Given the description of an element on the screen output the (x, y) to click on. 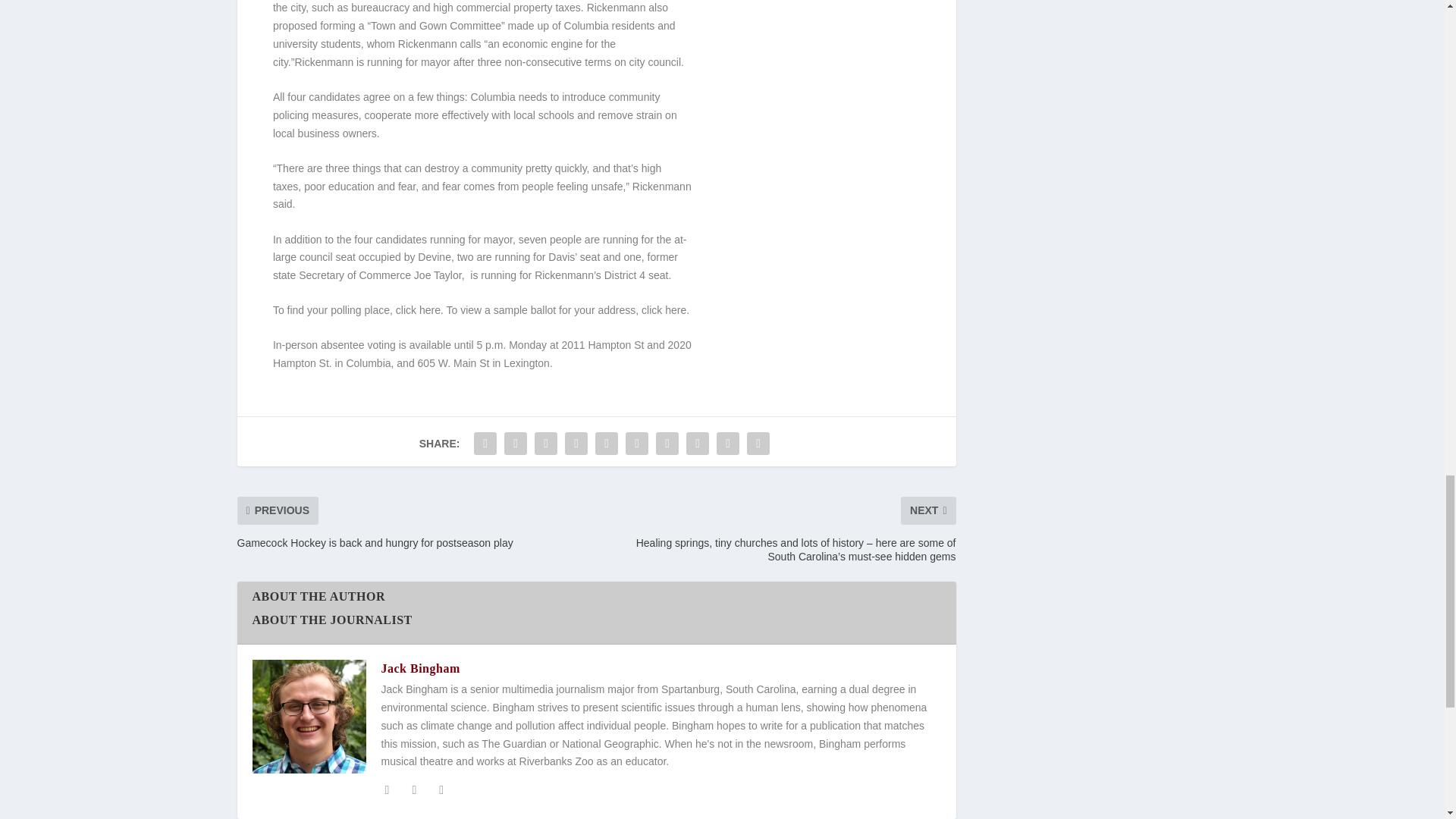
Joe Taylor (437, 275)
seven (532, 239)
here (430, 309)
here (675, 309)
two (465, 256)
